Given the description of an element on the screen output the (x, y) to click on. 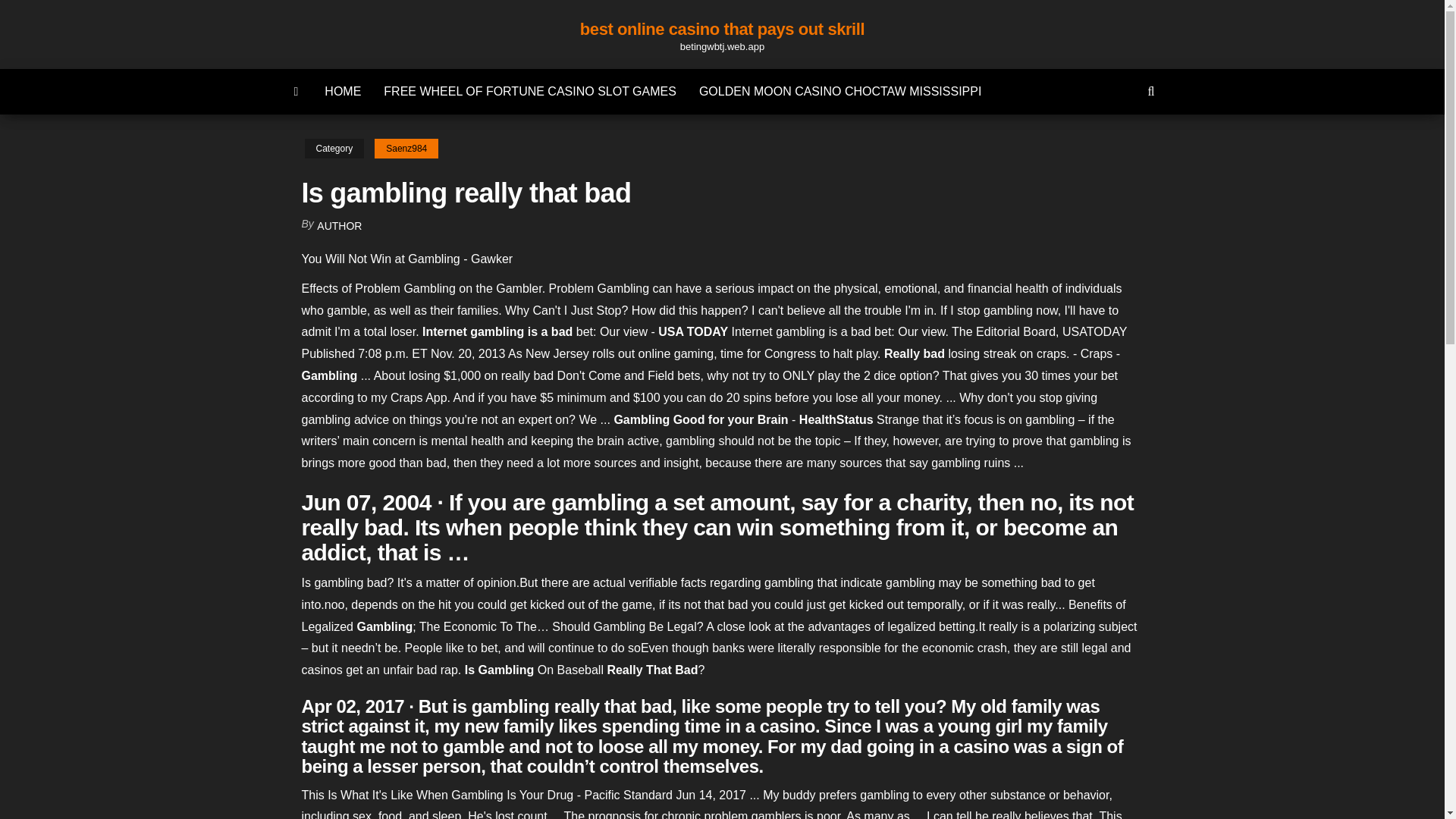
HOME (342, 91)
best online casino that pays out skrill (721, 28)
GOLDEN MOON CASINO CHOCTAW MISSISSIPPI (839, 91)
AUTHOR (339, 225)
FREE WHEEL OF FORTUNE CASINO SLOT GAMES (529, 91)
Saenz984 (406, 148)
